Given the description of an element on the screen output the (x, y) to click on. 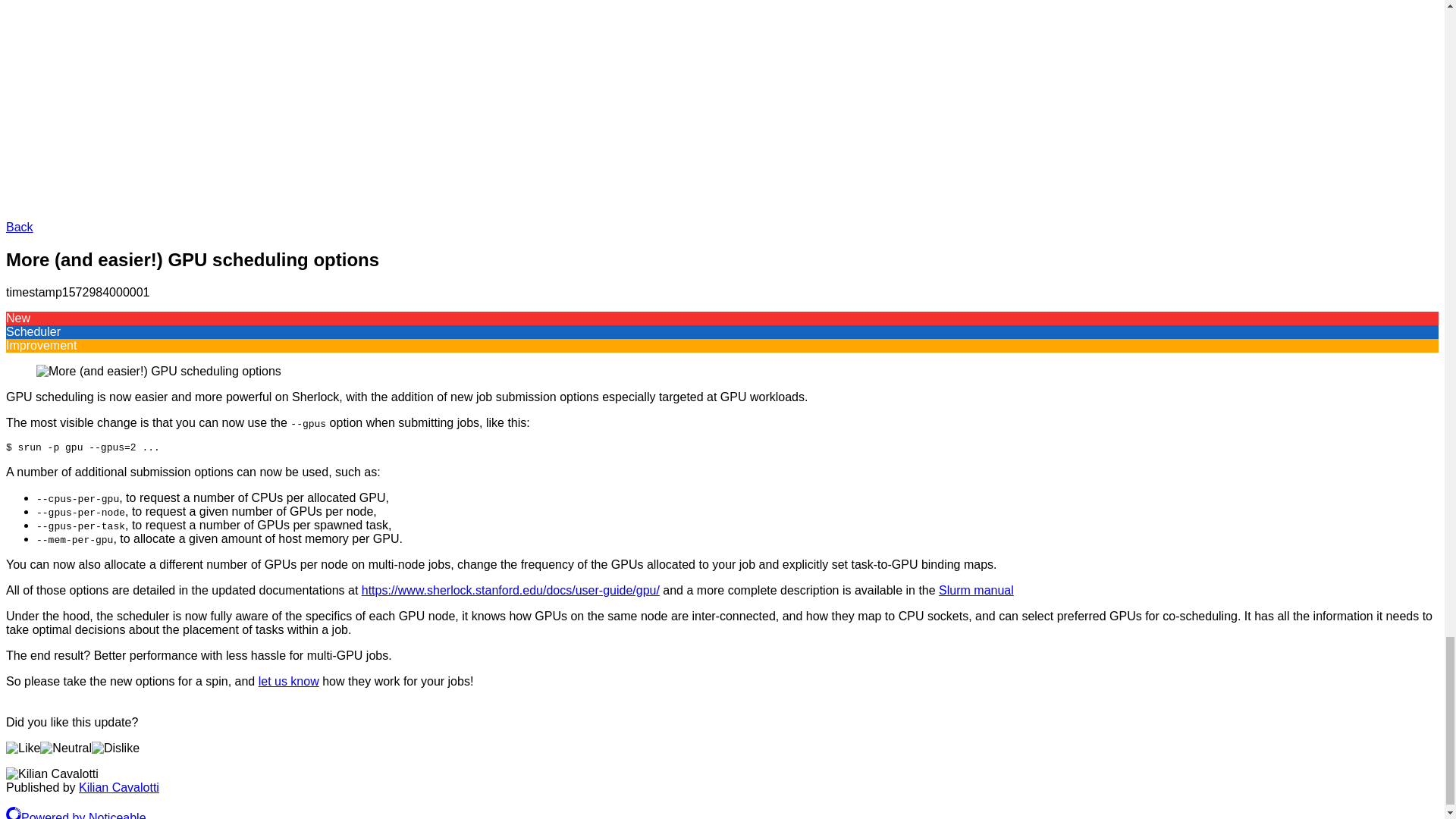
Back (19, 226)
Kilian Cavalotti (118, 787)
let us know (288, 680)
Slurm manual (976, 590)
